Given the description of an element on the screen output the (x, y) to click on. 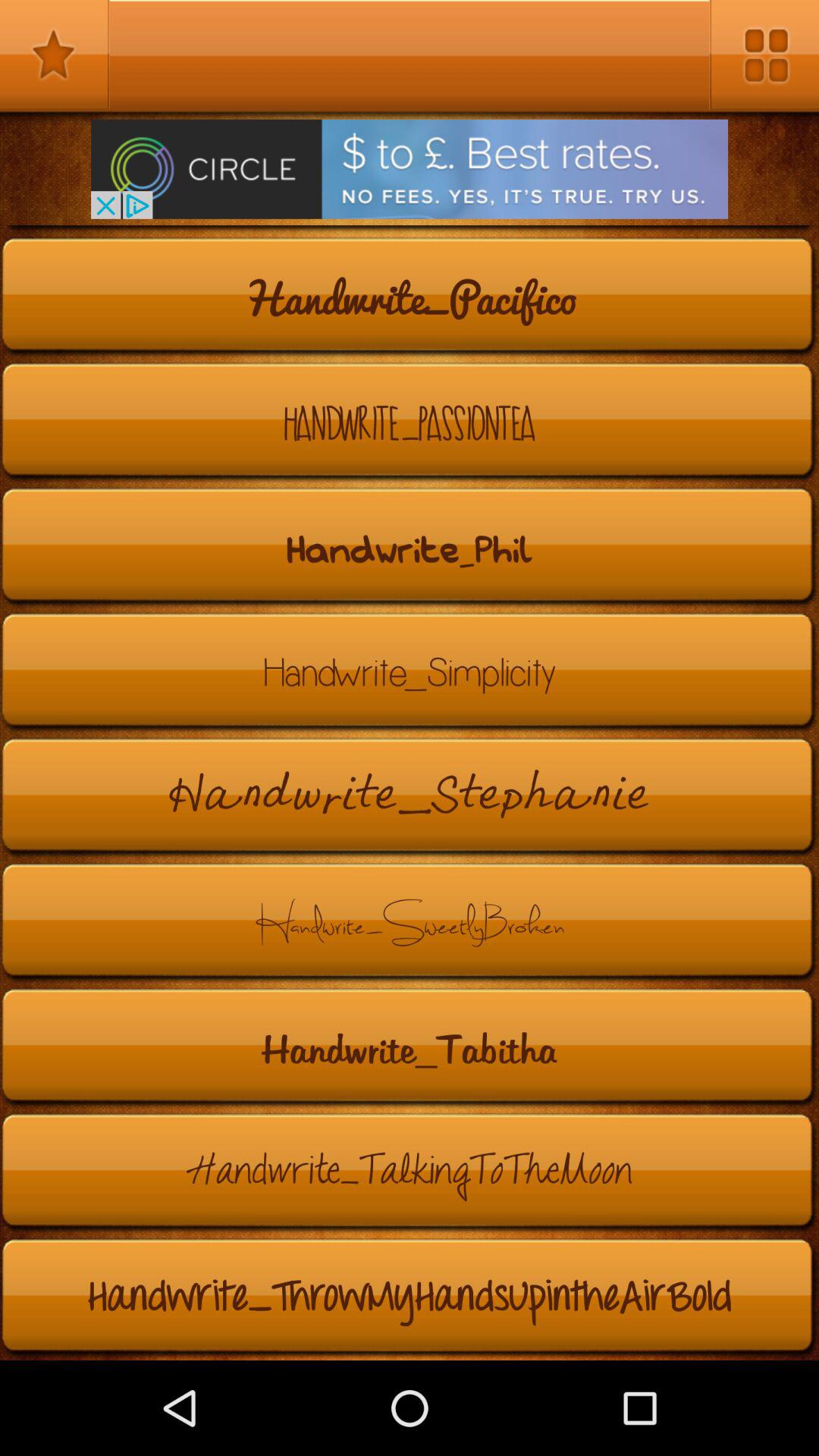
more options (764, 54)
